Given the description of an element on the screen output the (x, y) to click on. 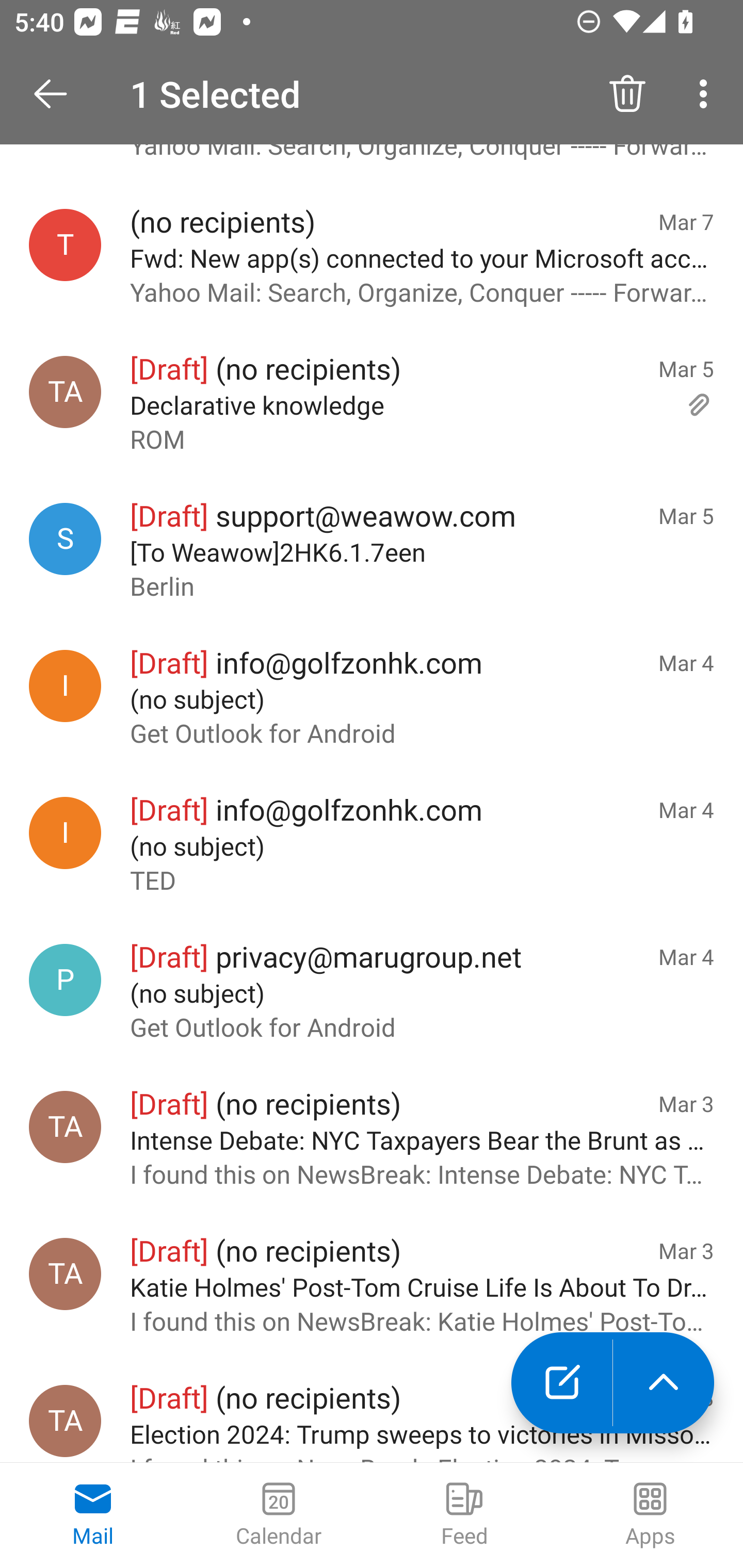
Delete (626, 93)
More options (706, 93)
Open Navigation Drawer (57, 94)
testappium002@outlook.com (64, 244)
Test Appium, testappium002@outlook.com (64, 391)
support@weawow.com (64, 539)
info@golfzonhk.com (64, 685)
info@golfzonhk.com (64, 832)
privacy@marugroup.net (64, 979)
Test Appium, testappium002@outlook.com (64, 1127)
Test Appium, testappium002@outlook.com (64, 1273)
New mail (561, 1382)
launch the extended action menu (663, 1382)
Test Appium, testappium002@outlook.com (64, 1420)
Calendar (278, 1515)
Feed (464, 1515)
Apps (650, 1515)
